Given the description of an element on the screen output the (x, y) to click on. 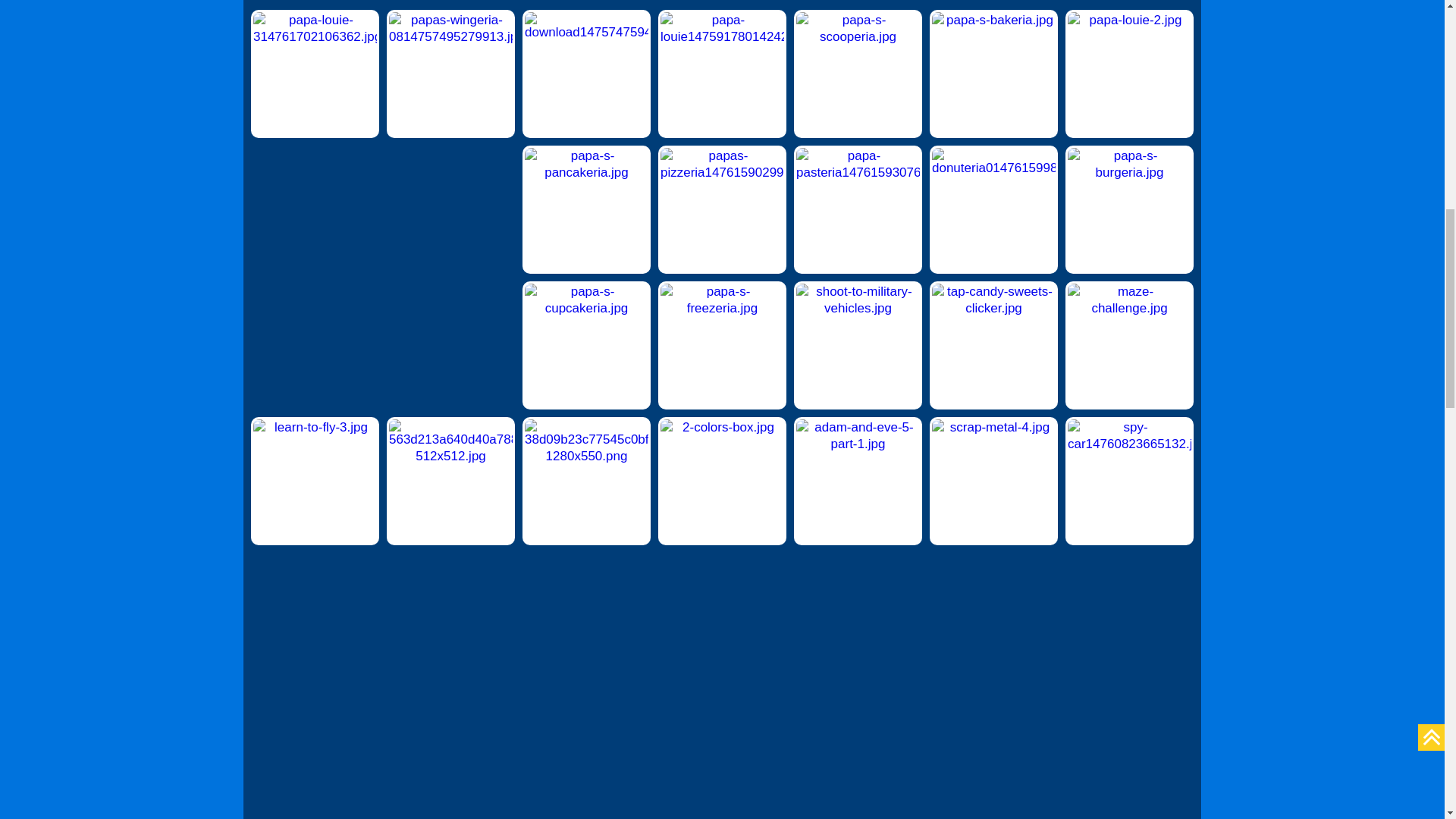
Papa Louie 3 (314, 73)
Papa's Wingeria (451, 73)
Papa's Scooperia (857, 73)
Papa Louie (722, 73)
Papa's Cheeseria (586, 73)
